Given the description of an element on the screen output the (x, y) to click on. 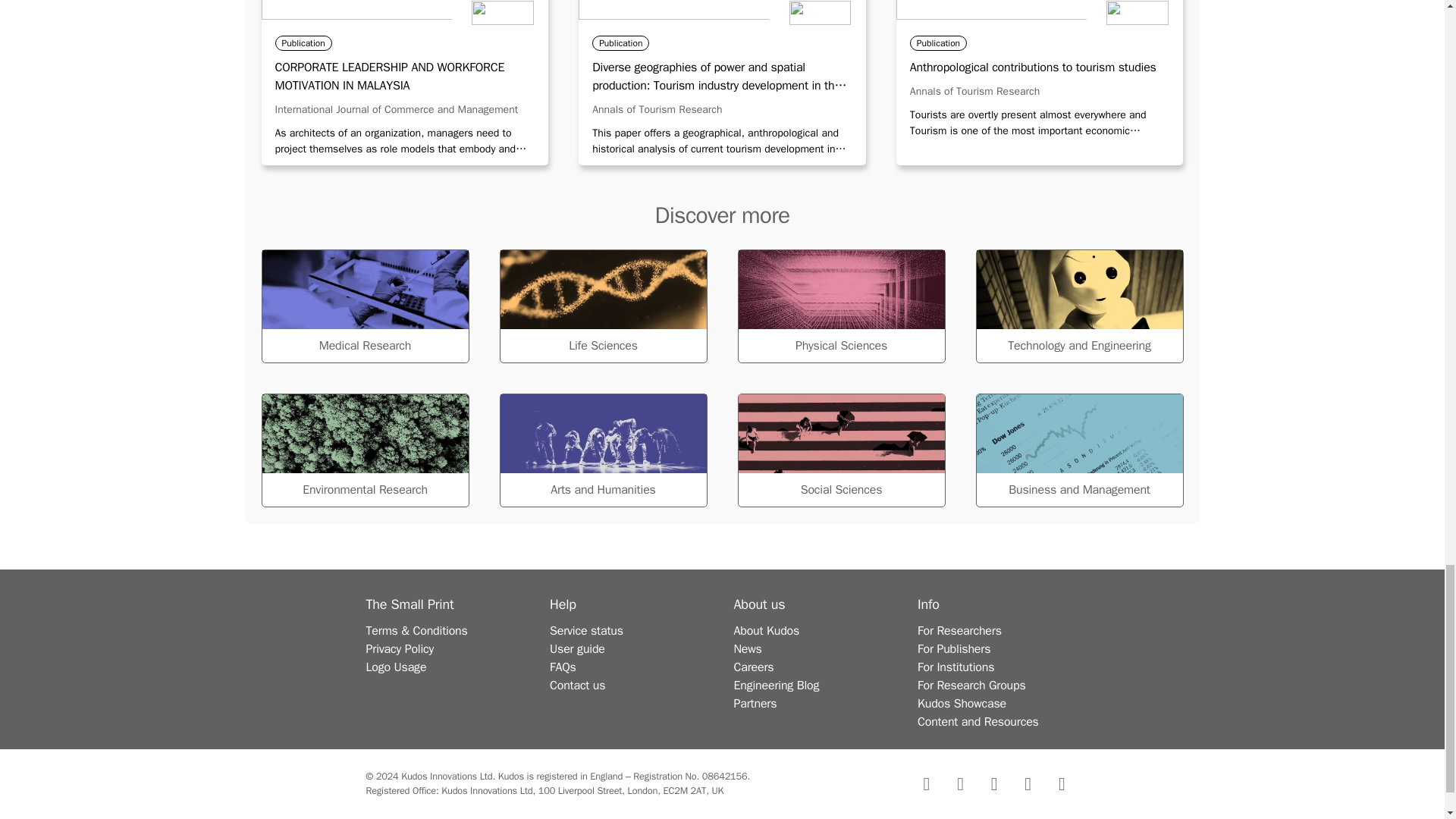
Careers (753, 667)
Social Sciences (840, 449)
CORPORATE LEADERSHIP AND WORKFORCE MOTIVATION IN MALAYSIA (404, 76)
Business and Management (1078, 449)
Engineering Blog (776, 685)
Life Sciences (602, 306)
Contact us (577, 685)
FAQs (563, 667)
News (747, 648)
About Kudos (766, 630)
Annals of Tourism Research (657, 109)
